Given the description of an element on the screen output the (x, y) to click on. 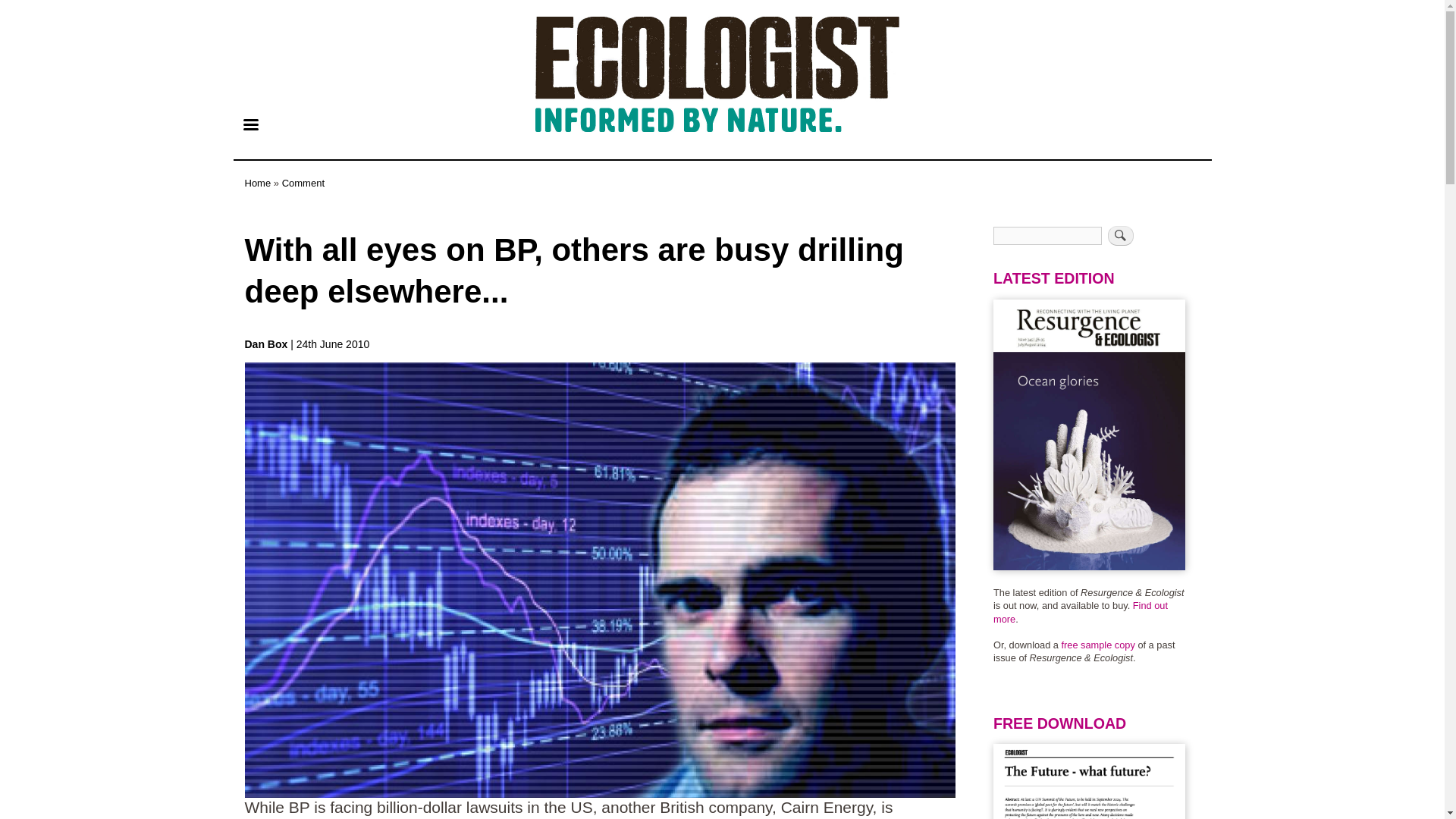
Search (1121, 235)
Thursday, June 24, 2010 - 00:00 (333, 344)
Skip to main content (722, 1)
Search (1121, 235)
Home (257, 183)
Comment (303, 183)
Menu (249, 126)
MENU (249, 126)
Dan Box (266, 344)
